Given the description of an element on the screen output the (x, y) to click on. 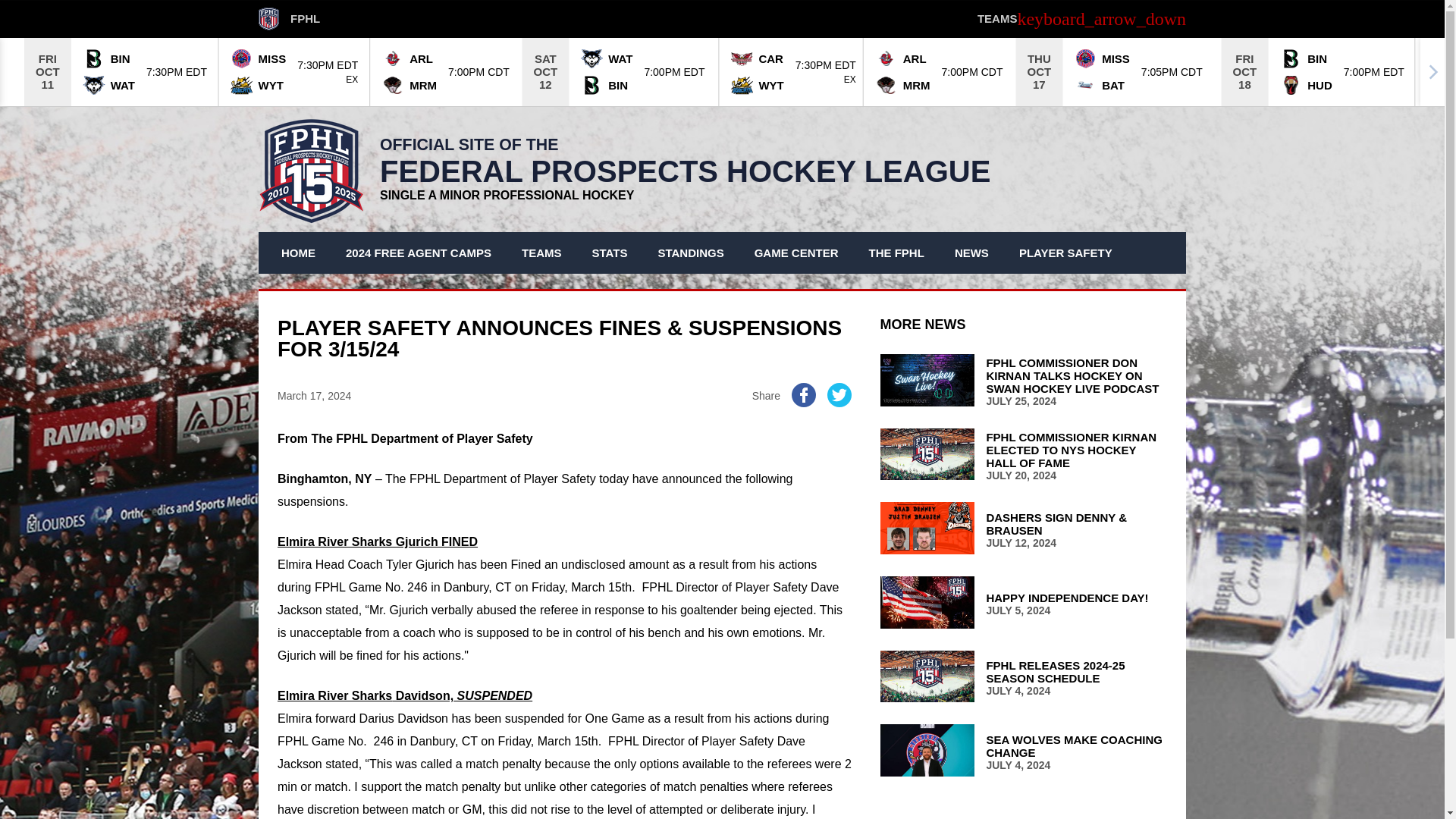
FPHL (289, 18)
